Given the description of an element on the screen output the (x, y) to click on. 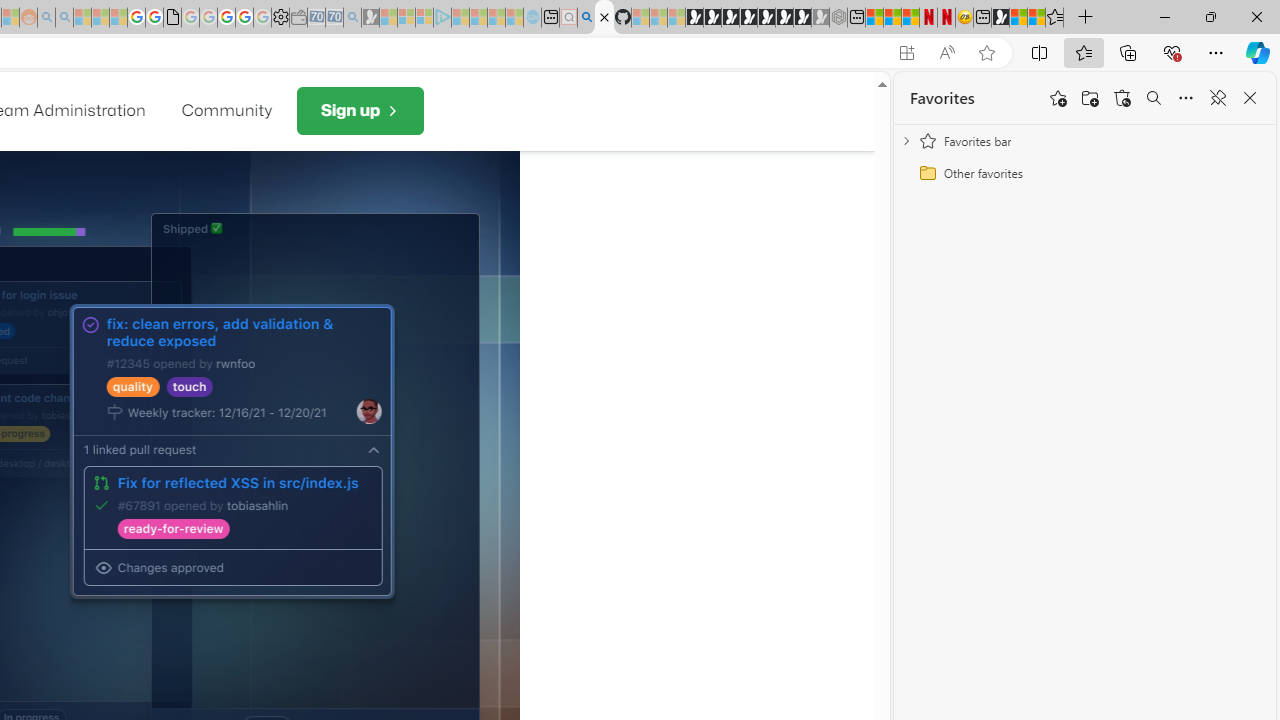
New Tab (1085, 17)
New tab (982, 17)
MSN (1000, 17)
Collections (1128, 52)
